Given the description of an element on the screen output the (x, y) to click on. 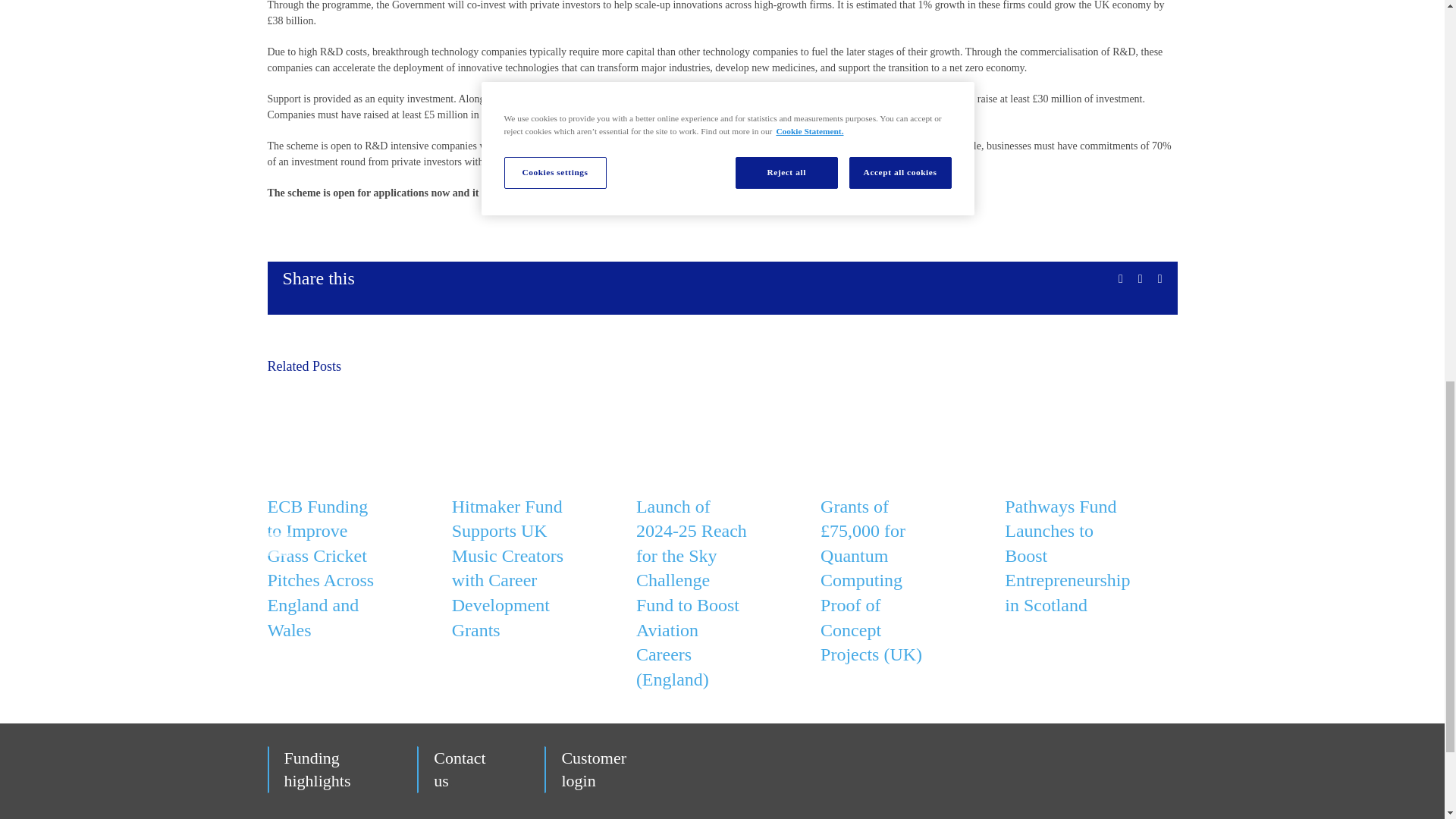
Pathways Fund Launches to Boost Entrepreneurship in Scotland (1066, 555)
